Given the description of an element on the screen output the (x, y) to click on. 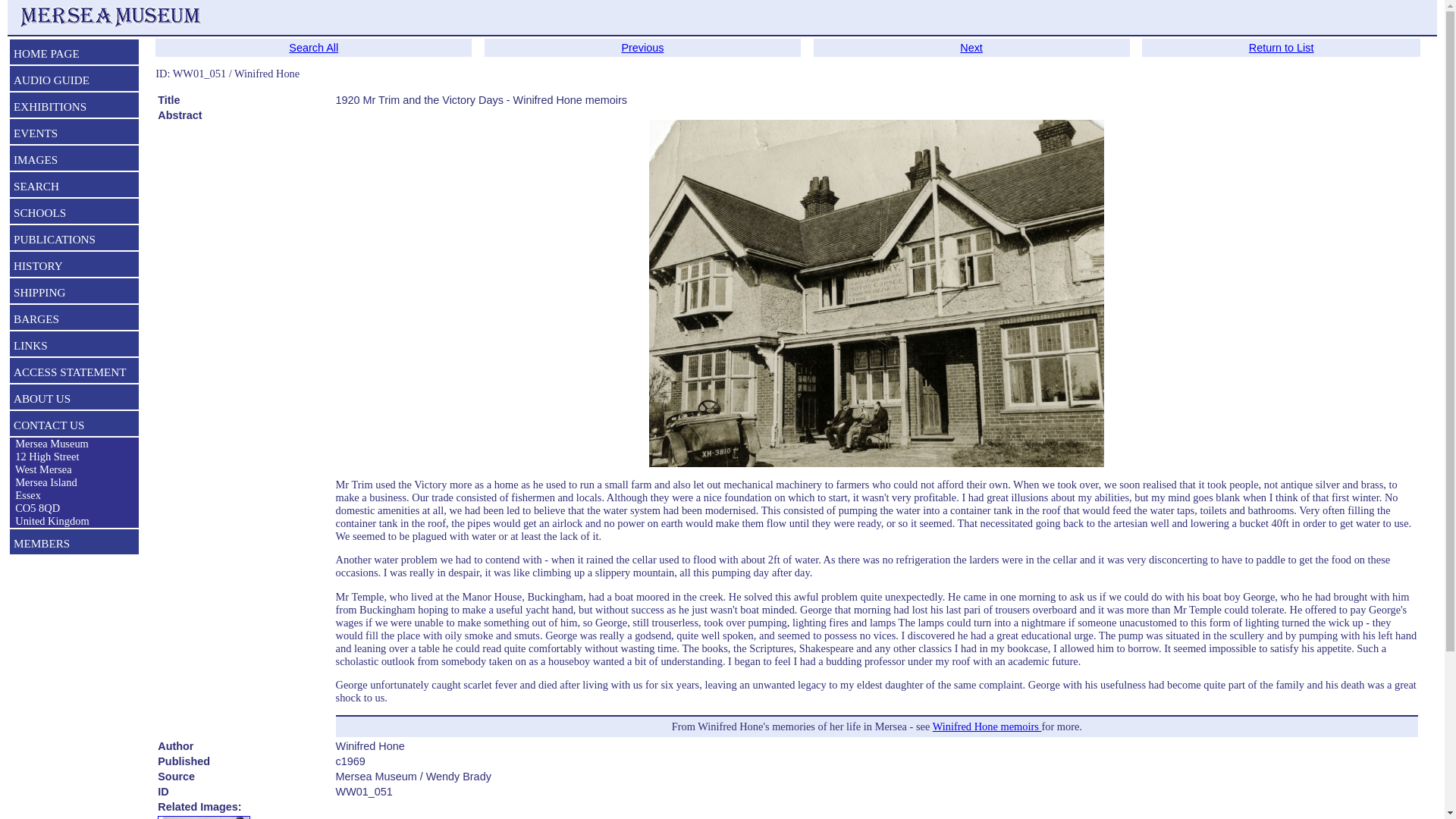
IMAGES (74, 160)
SHIPPING (74, 293)
EVENTS (74, 134)
EXHIBITIONS (74, 108)
HOME PAGE (74, 55)
SCHOOLS (74, 214)
AUDIO GUIDE (74, 81)
HISTORY (74, 267)
SEARCH (74, 187)
PUBLICATIONS (74, 241)
